Given the description of an element on the screen output the (x, y) to click on. 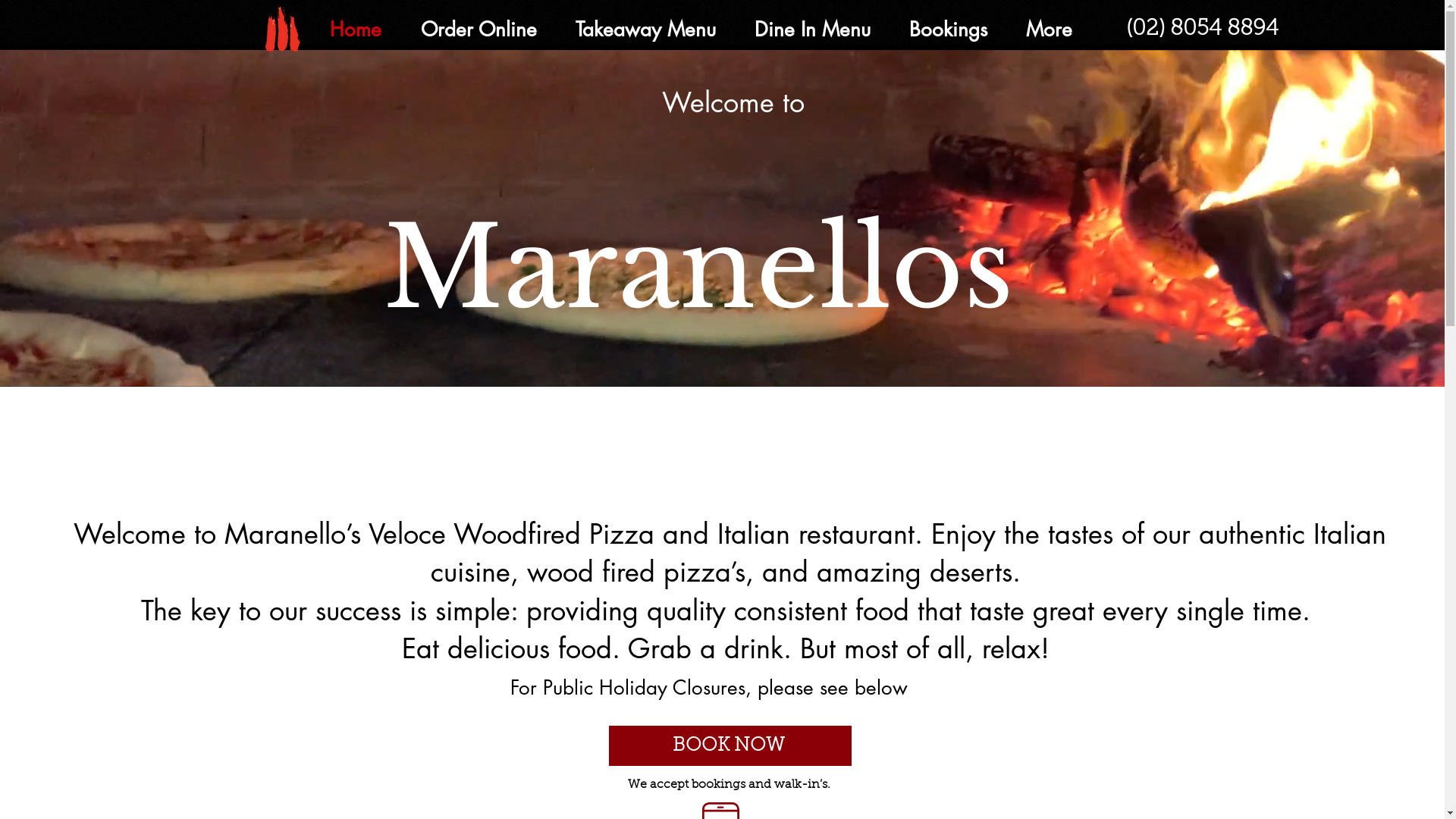
Takeaway Menu Element type: text (644, 29)
Dine In Menu Element type: text (811, 29)
Home Element type: text (355, 29)
Bookings Element type: text (946, 29)
(02) 8054 8894 Element type: text (1201, 29)
Order Online Element type: text (477, 29)
BOOK NOW Element type: text (729, 745)
